Given the description of an element on the screen output the (x, y) to click on. 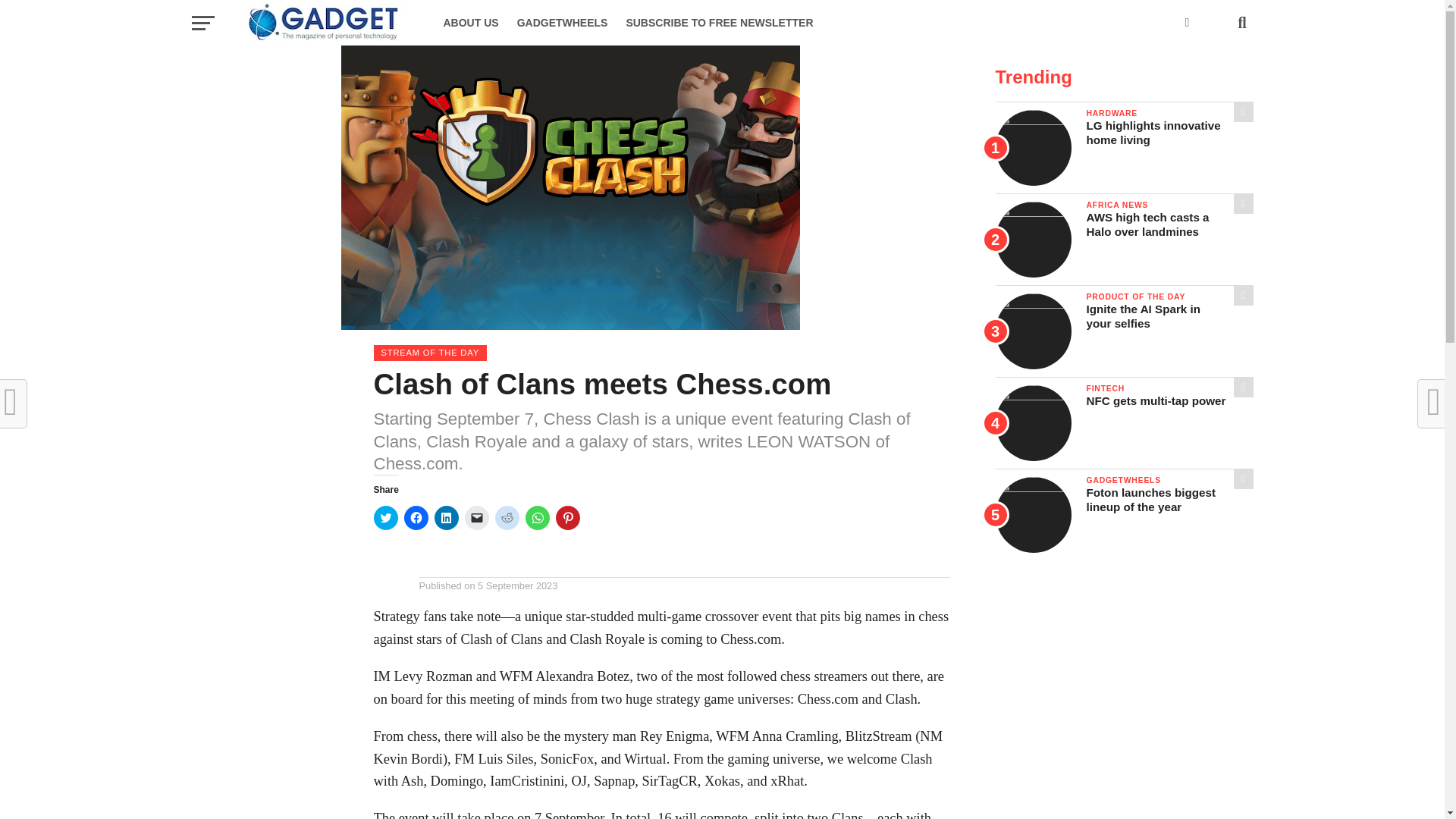
ABOUT US (469, 22)
Click to share on Pinterest (566, 517)
Click to share on Reddit (506, 517)
Click to share on LinkedIn (445, 517)
Click to share on Facebook (415, 517)
GADGETWHEELS (562, 22)
Click to share on WhatsApp (536, 517)
Click to email a link to a friend (475, 517)
Click to share on Twitter (384, 517)
SUBSCRIBE TO FREE NEWSLETTER (718, 22)
